Given the description of an element on the screen output the (x, y) to click on. 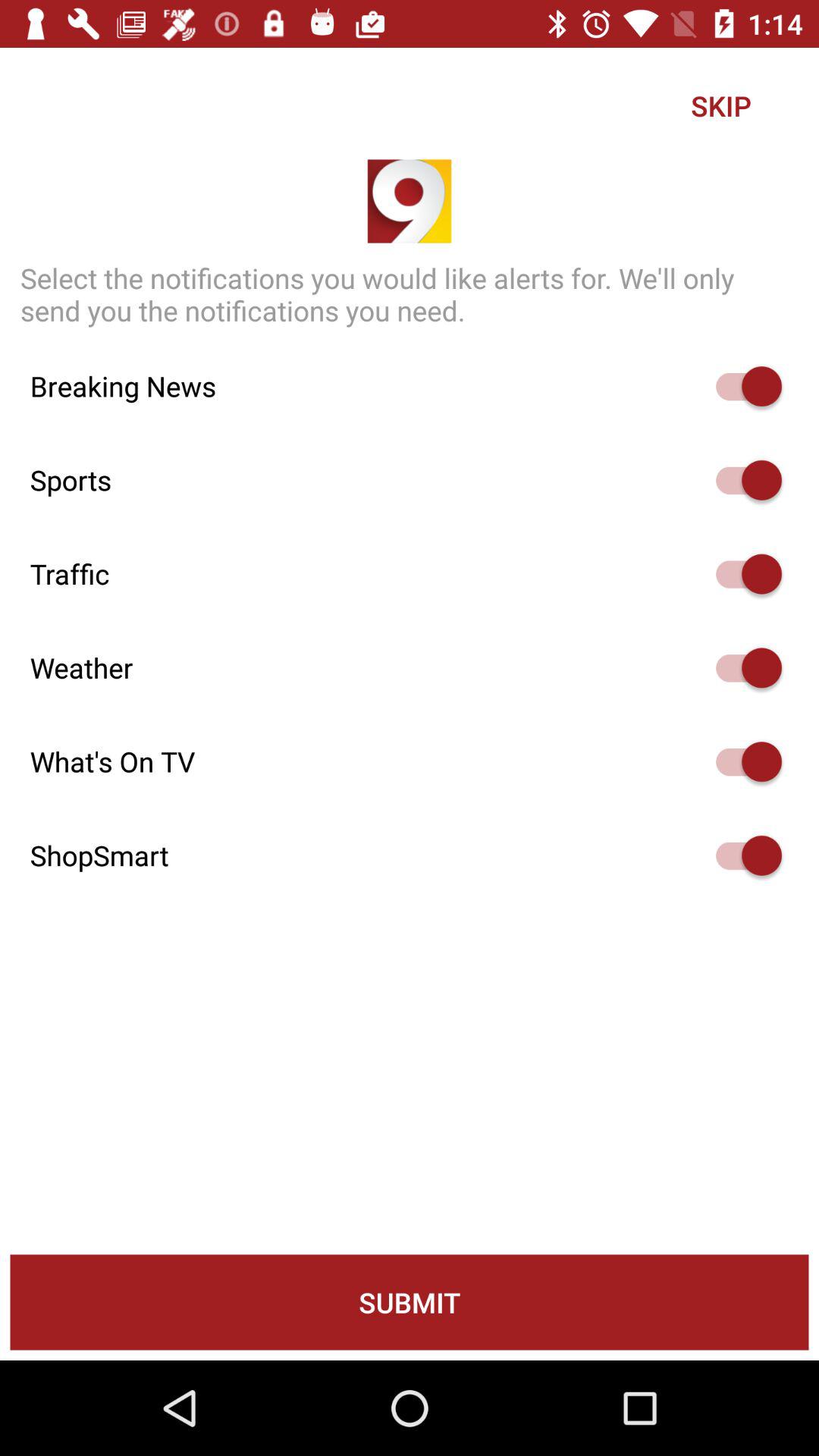
he can activate the simple voice command (741, 574)
